Given the description of an element on the screen output the (x, y) to click on. 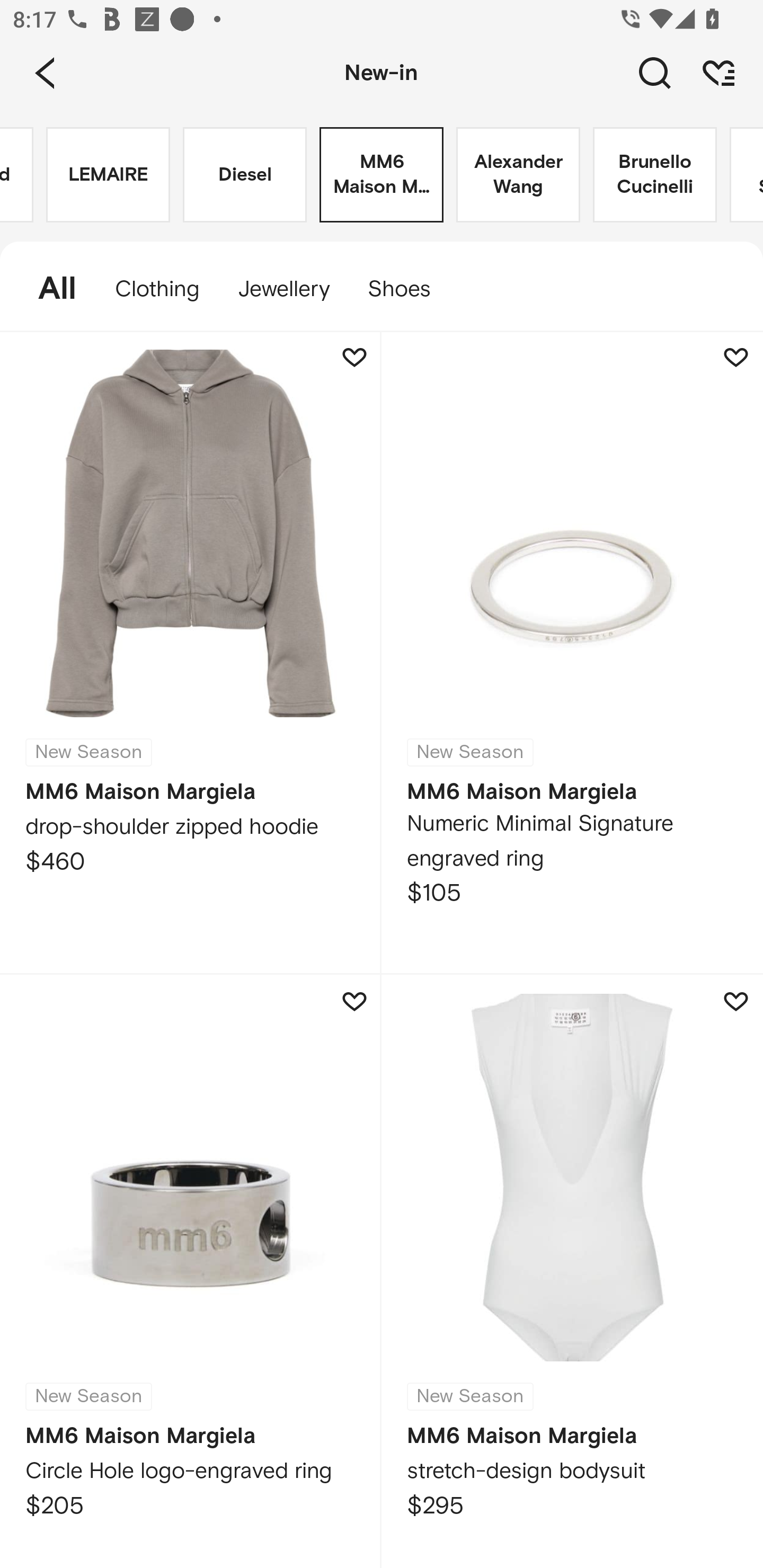
LEMAIRE (107, 174)
Diesel (244, 174)
MM6 Maison Margiela (381, 174)
Alexander Wang (517, 174)
Brunello Cucinelli (654, 174)
All (47, 288)
Clothing (156, 288)
Jewellery (283, 288)
Shoes (408, 288)
